Given the description of an element on the screen output the (x, y) to click on. 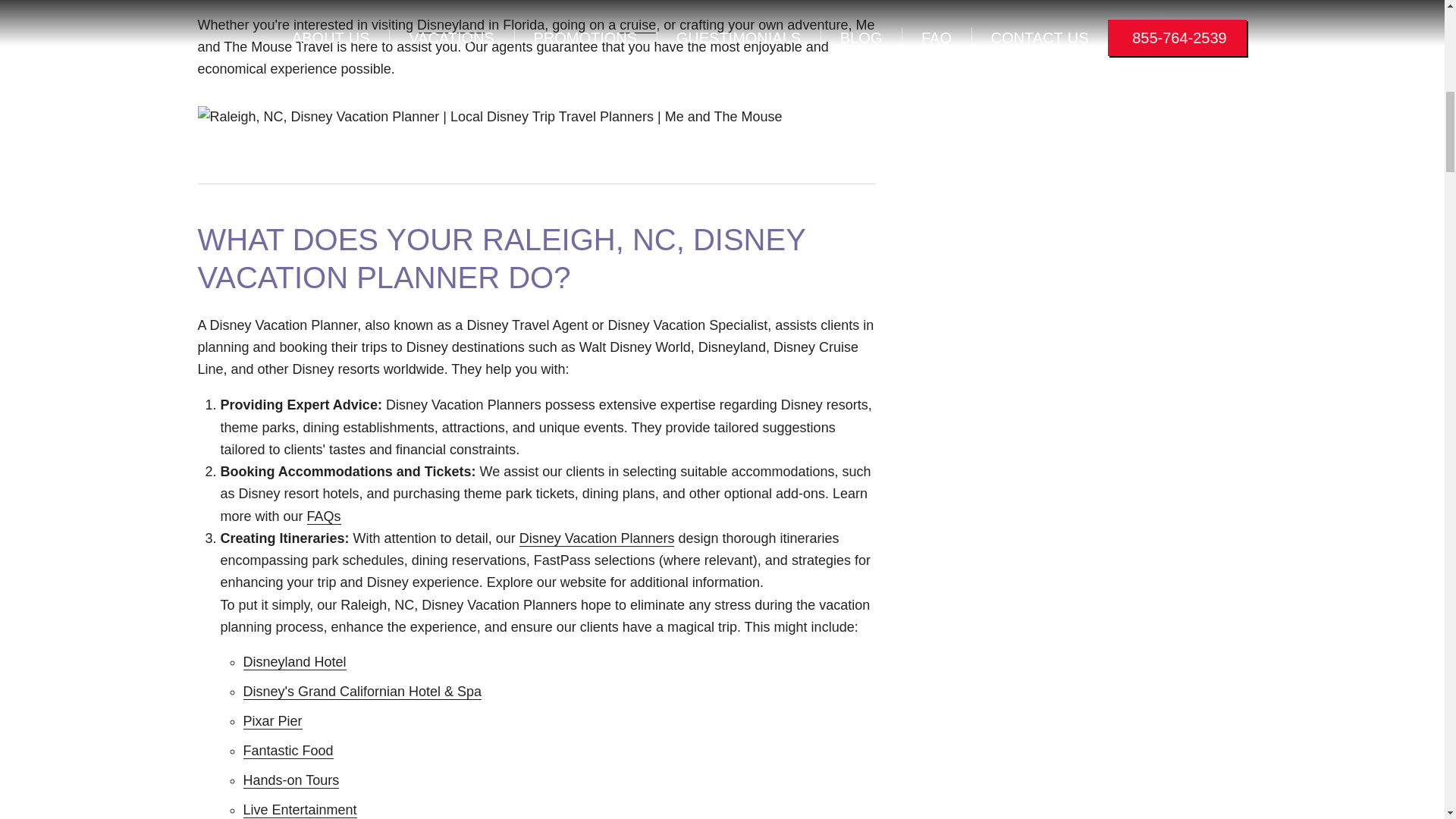
cruise (638, 25)
Pixar Pier (272, 721)
Disney Vacation Planners (597, 538)
Disneyland (450, 25)
Hands-on Tours (291, 780)
FAQs (323, 516)
Disneyland Hotel (294, 662)
Fantastic Food (288, 750)
Live Entertainment (299, 810)
